Given the description of an element on the screen output the (x, y) to click on. 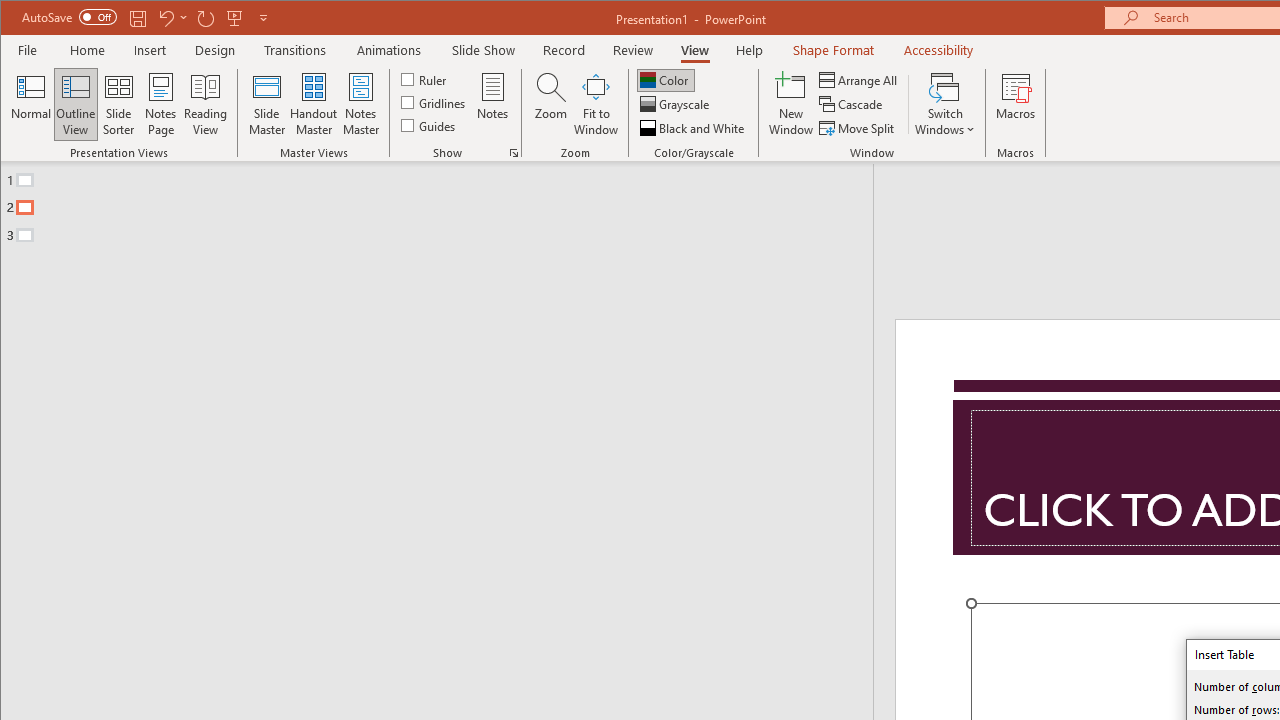
Slide Master (266, 104)
Color (666, 80)
Notes (493, 104)
New Window (791, 104)
